Given the description of an element on the screen output the (x, y) to click on. 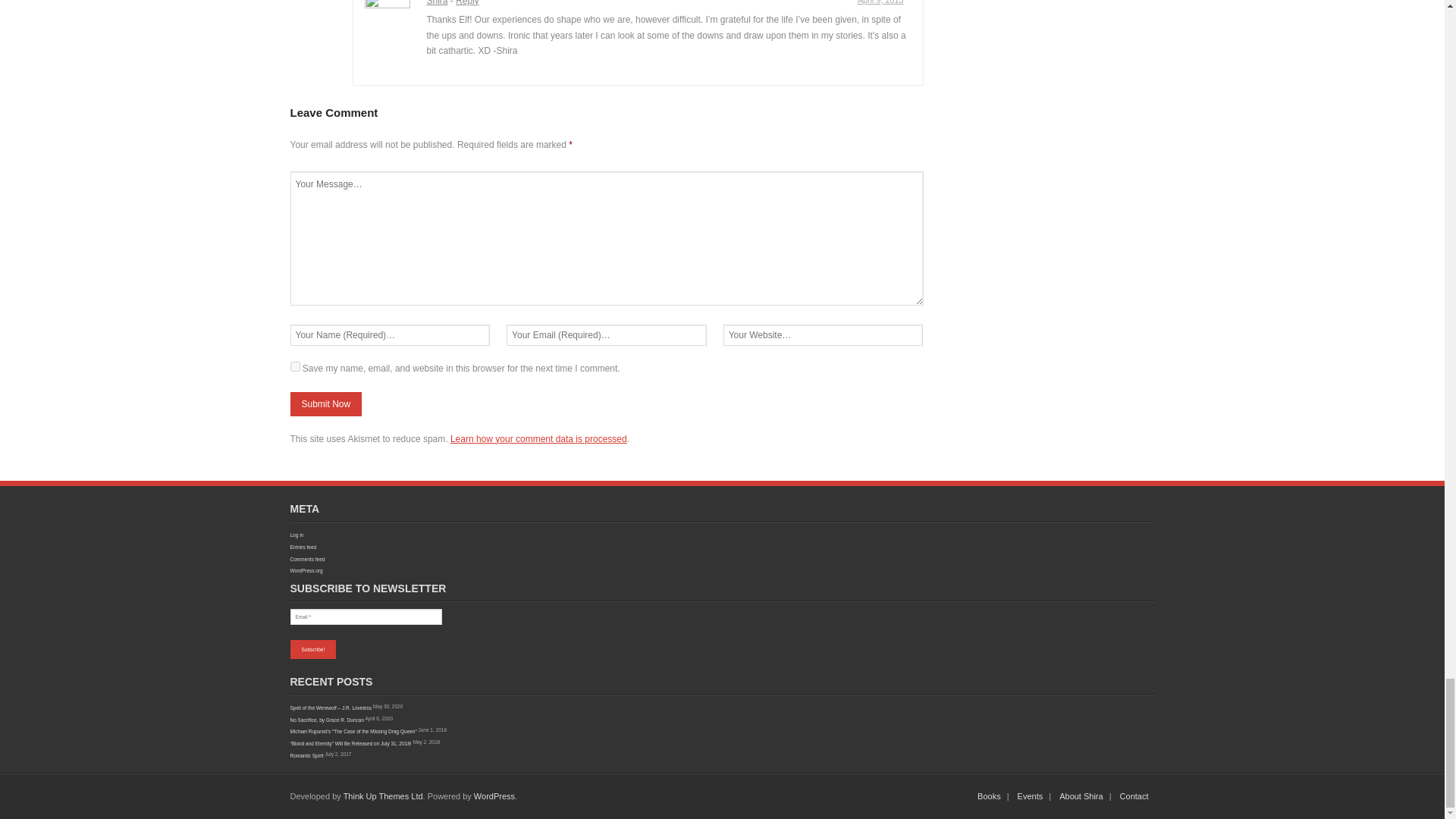
yes (294, 366)
Subscribe! (312, 649)
Submit Now (325, 404)
Email (365, 616)
